Given the description of an element on the screen output the (x, y) to click on. 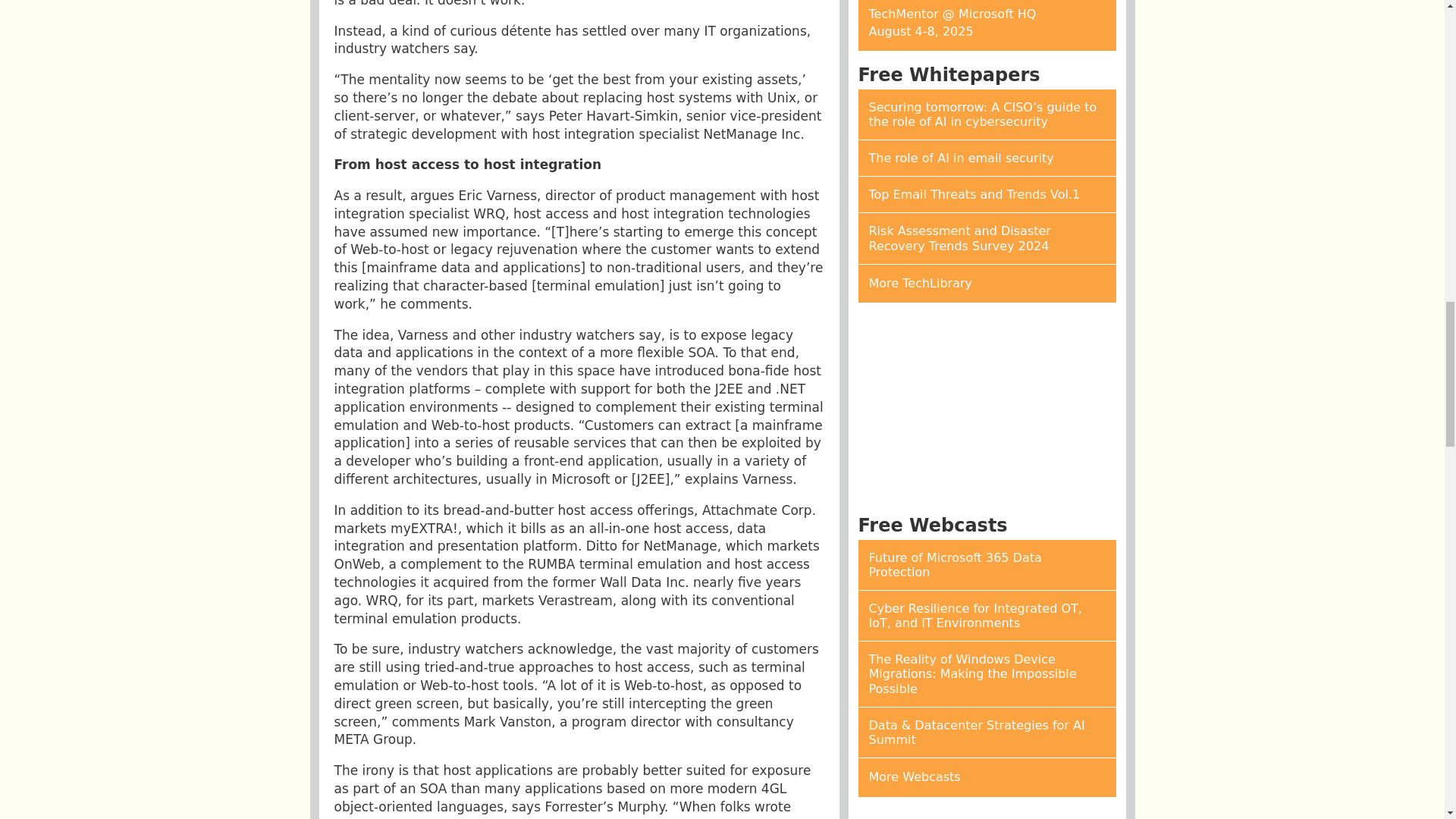
Top Email Threats and Trends Vol.1 (987, 194)
3rd party ad content (986, 409)
The role of AI in email security (987, 158)
3rd party ad content (986, 814)
